Given the description of an element on the screen output the (x, y) to click on. 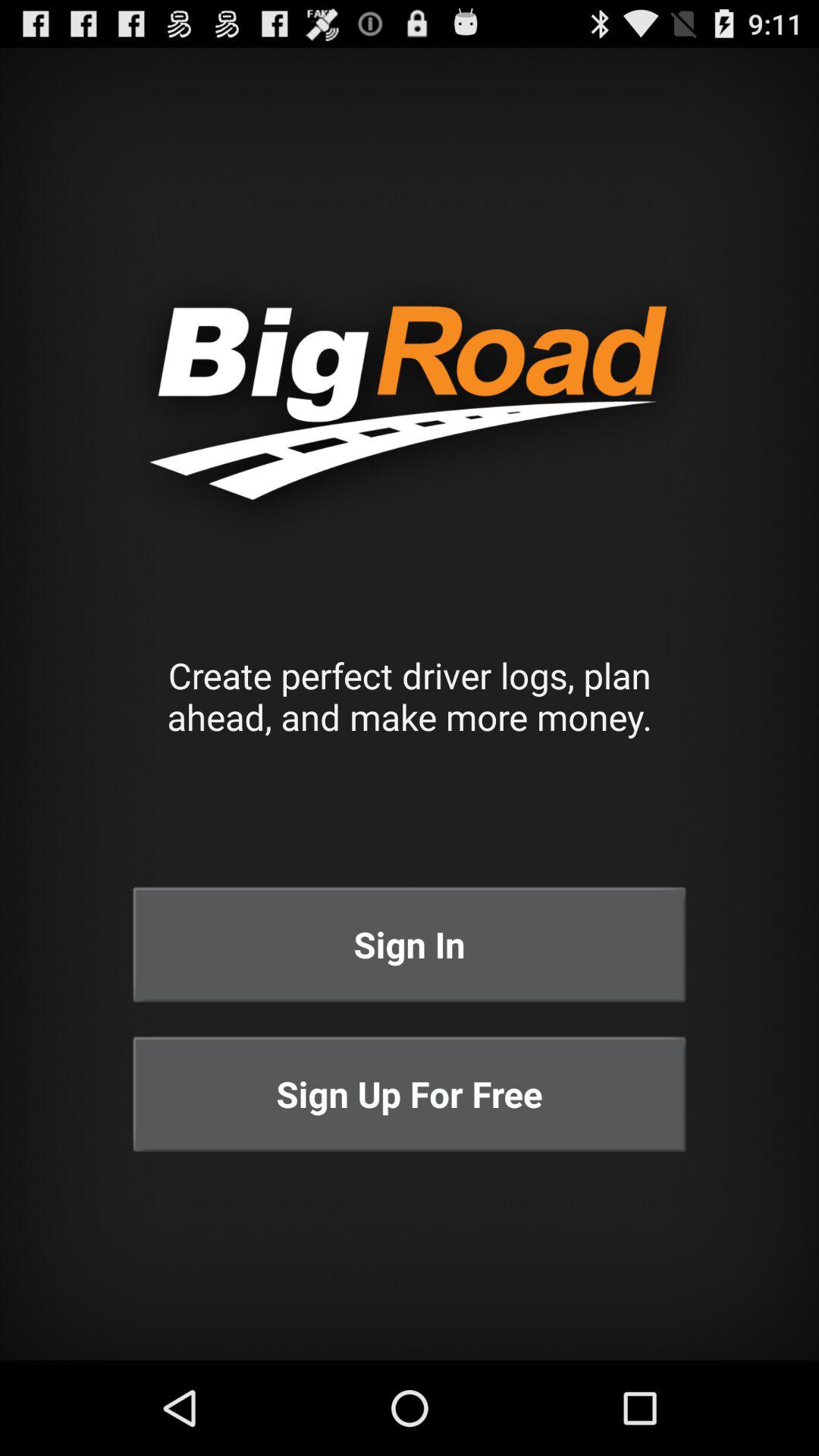
tap app below the create perfect driver icon (409, 944)
